Given the description of an element on the screen output the (x, y) to click on. 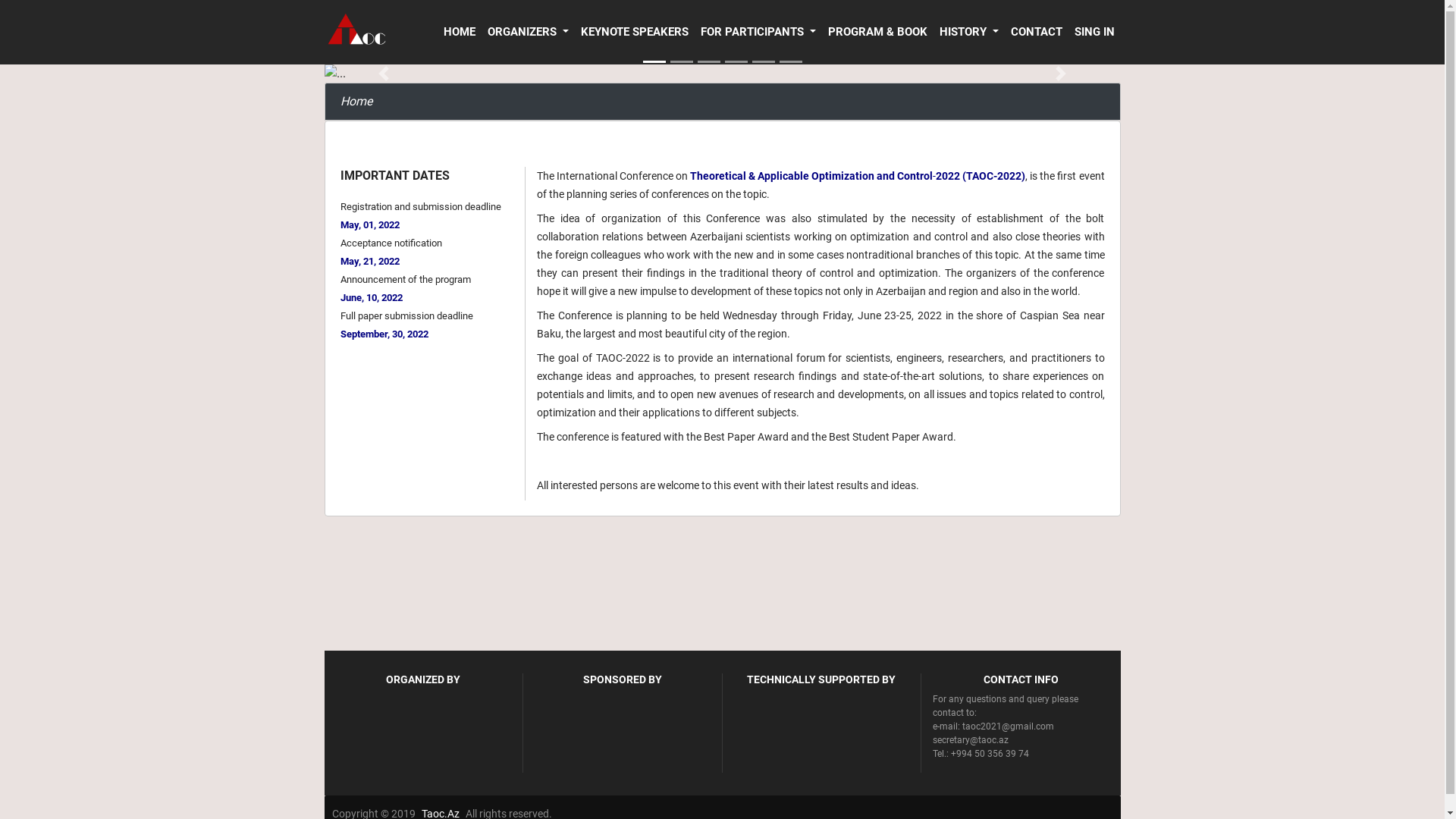
Home Element type: text (50, 785)
Organizers Element type: text (62, 799)
